Given the description of an element on the screen output the (x, y) to click on. 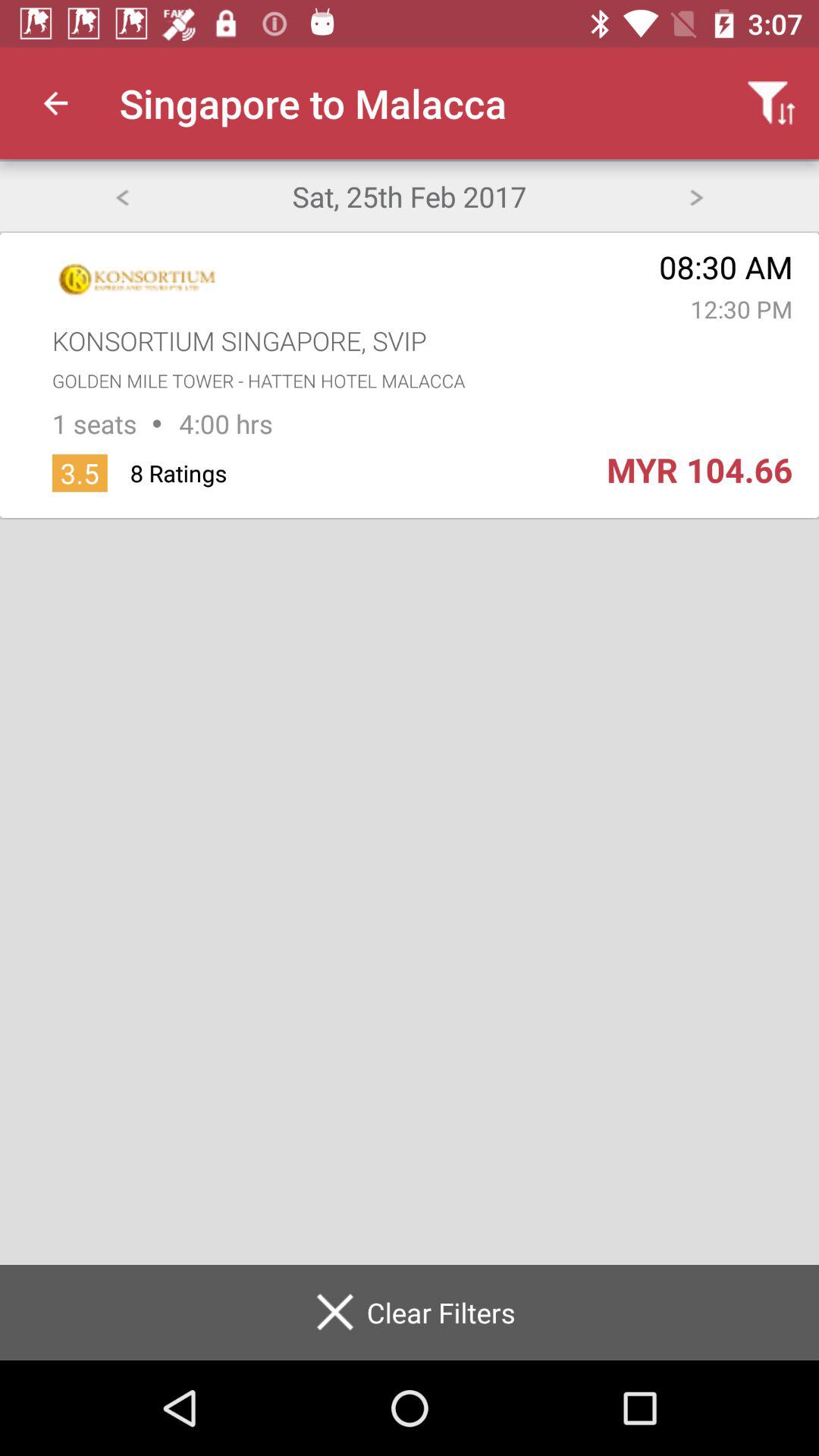
choose the icon next to sat 25th feb item (121, 196)
